Given the description of an element on the screen output the (x, y) to click on. 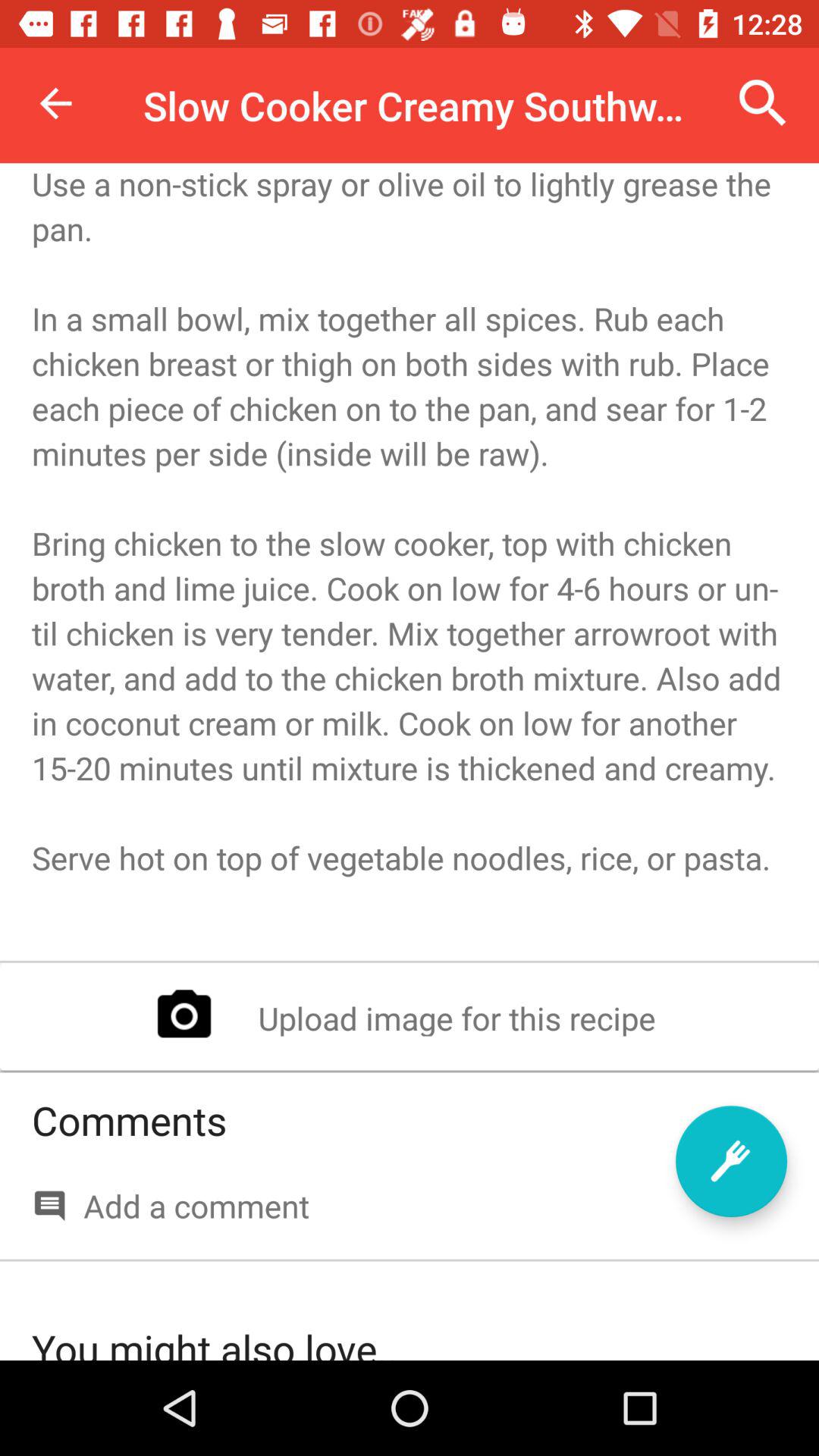
turn on item at the top left corner (55, 103)
